Given the description of an element on the screen output the (x, y) to click on. 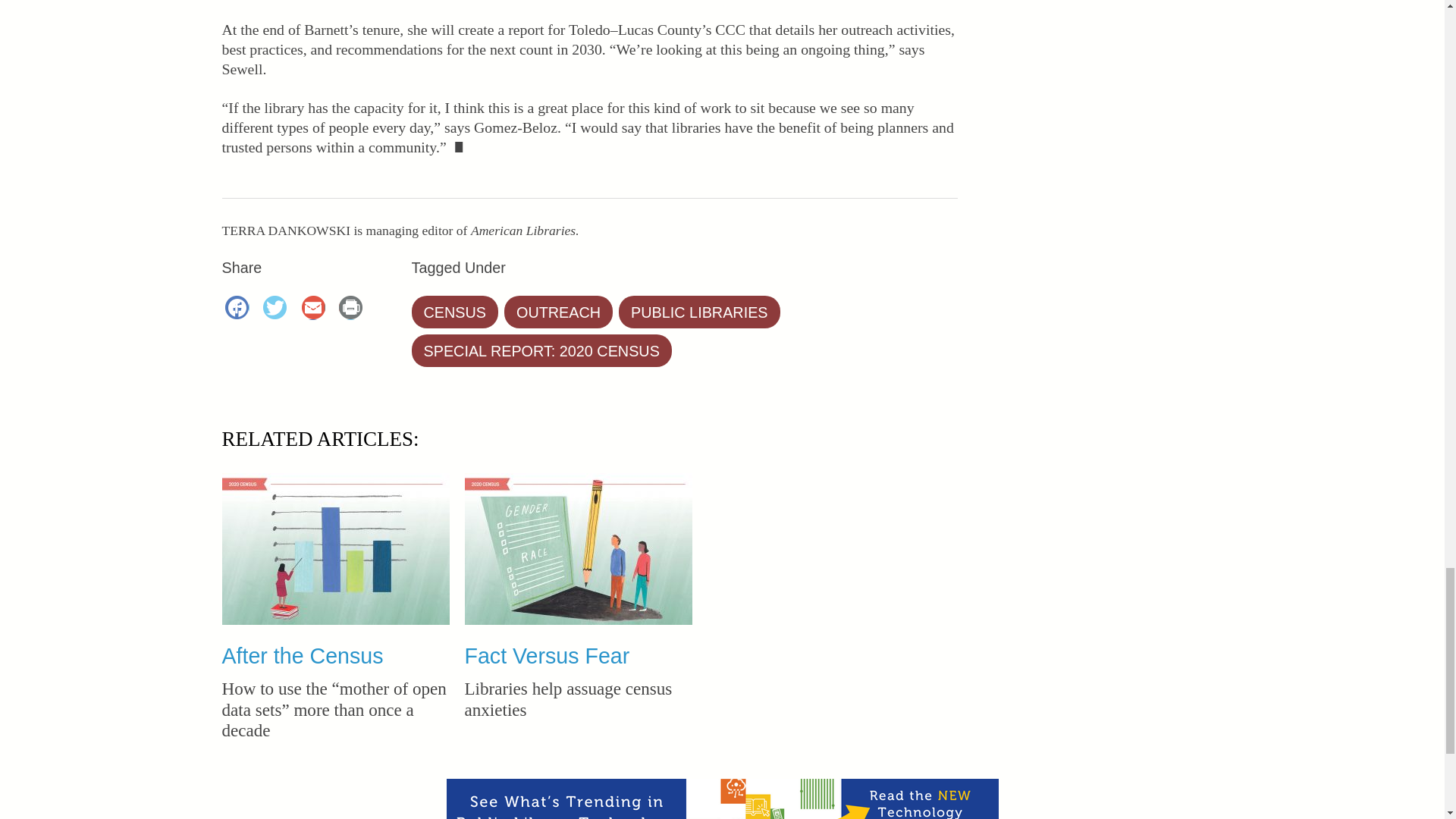
Facebook (240, 309)
Facebook (240, 309)
Print (353, 309)
Twitter (278, 309)
Click here for more information (721, 798)
Email (315, 309)
